Given the description of an element on the screen output the (x, y) to click on. 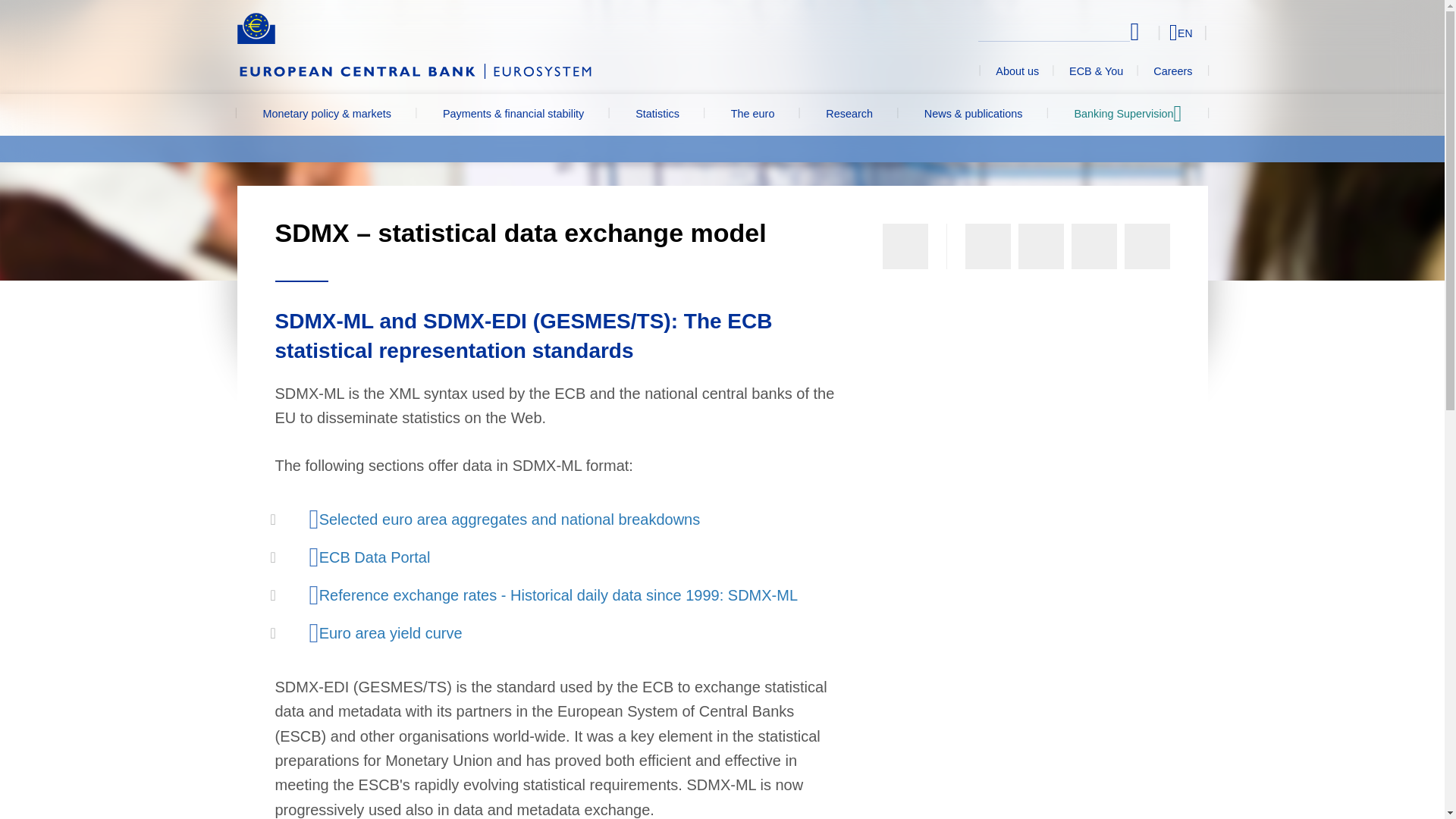
Select language (1153, 32)
